Given the description of an element on the screen output the (x, y) to click on. 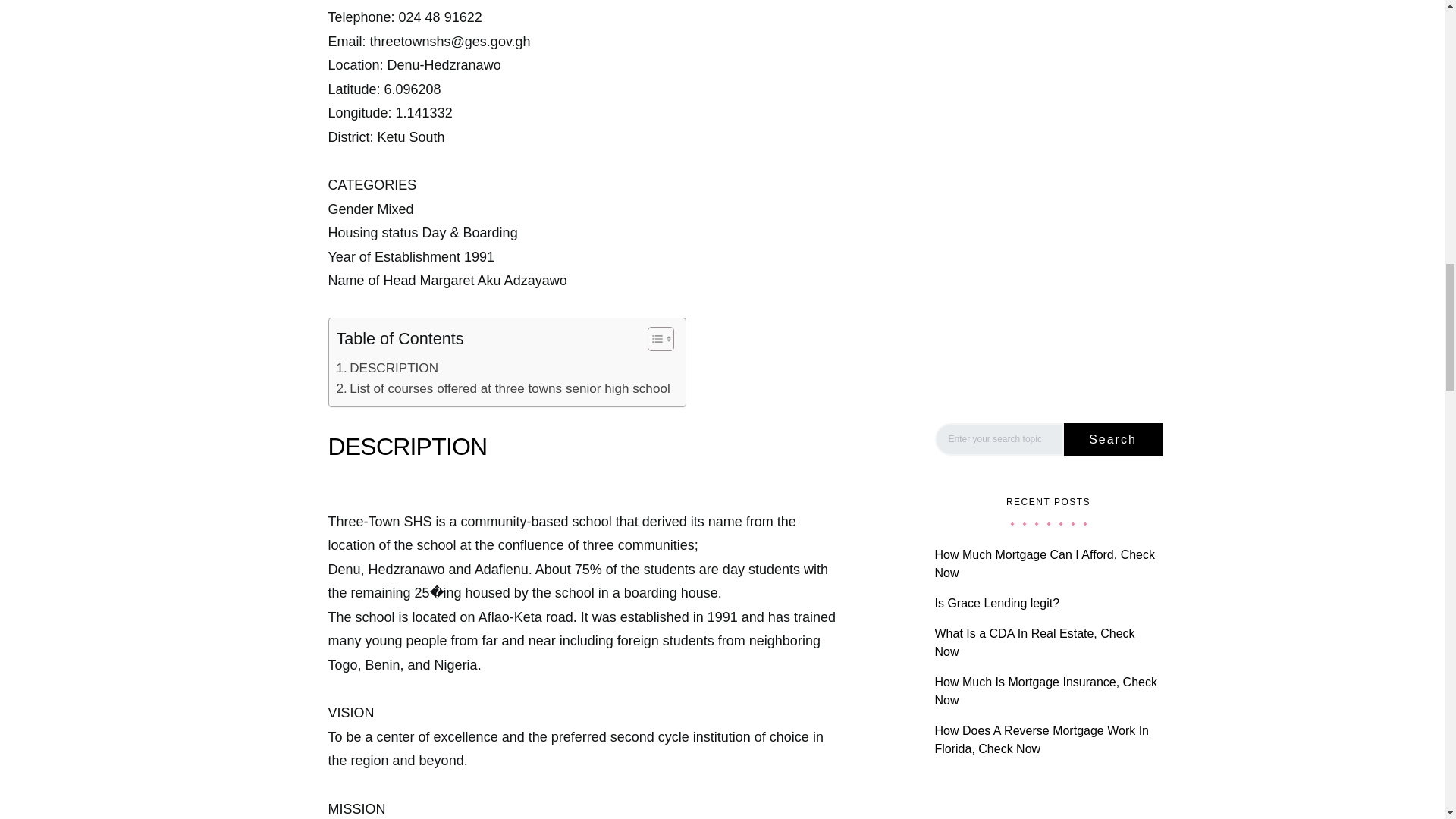
List of courses offered at three towns senior high school (502, 388)
List of courses offered at three towns senior high school (502, 388)
DESCRIPTION (387, 367)
DESCRIPTION (387, 367)
